Given the description of an element on the screen output the (x, y) to click on. 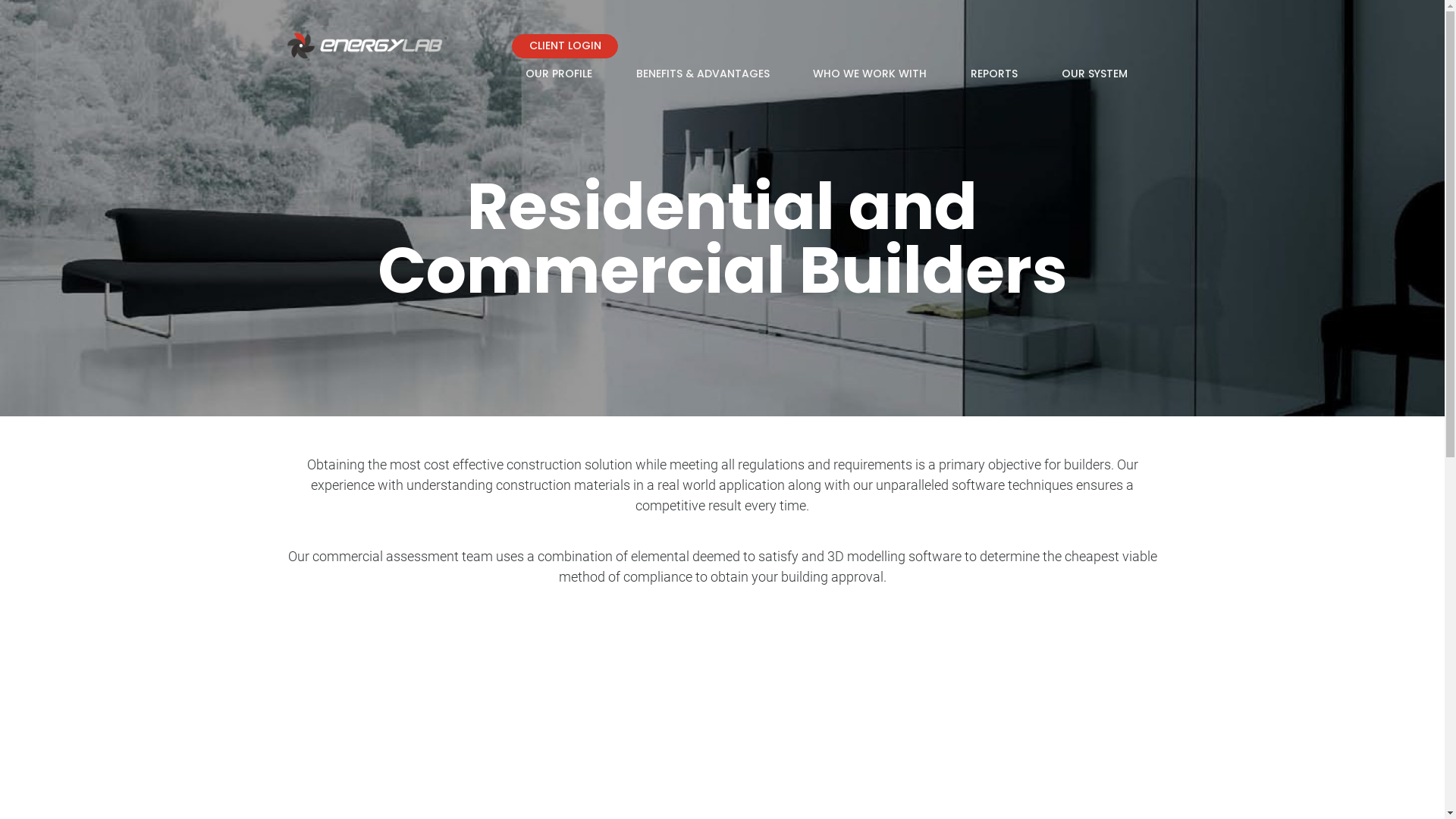
OUR SYSTEM Element type: text (1094, 73)
WHO WE WORK WITH Element type: text (869, 73)
REPORTS Element type: text (993, 73)
CLIENT LOGIN Element type: text (564, 46)
OUR PROFILE Element type: text (558, 73)
BENEFITS & ADVANTAGES Element type: text (702, 73)
